Given the description of an element on the screen output the (x, y) to click on. 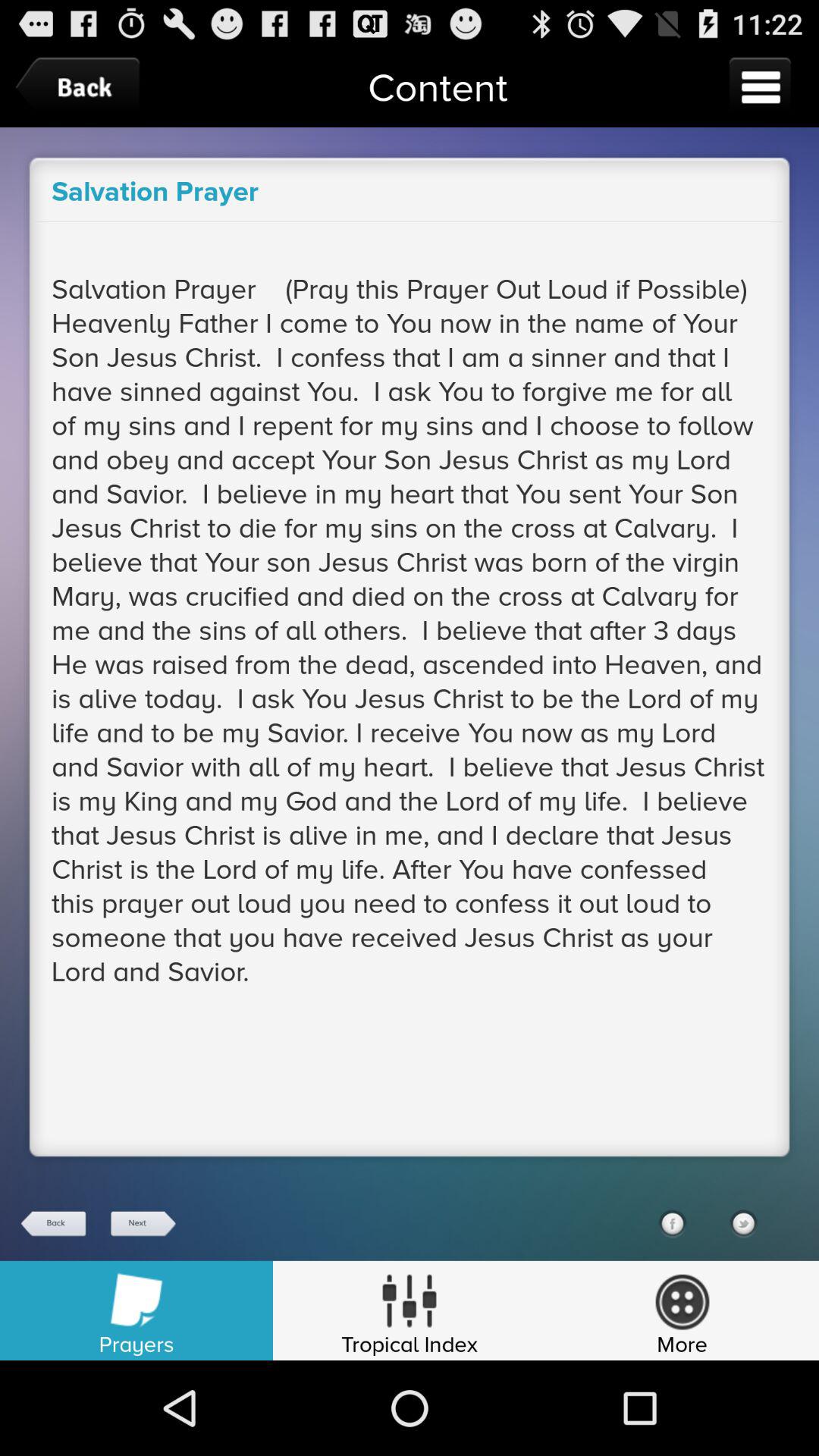
enter menu (760, 87)
